Given the description of an element on the screen output the (x, y) to click on. 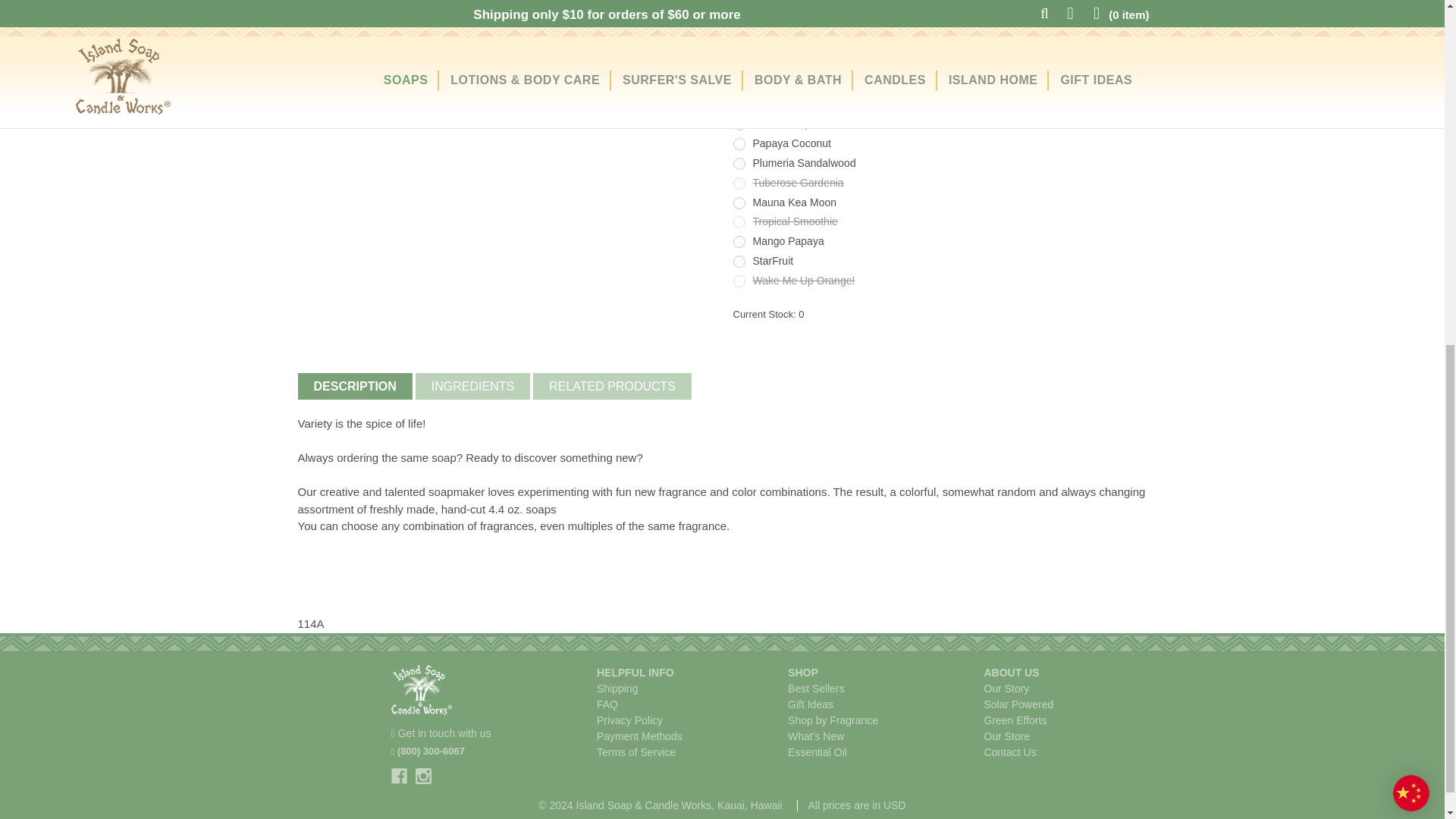
Buy 4 soaps, choose 1 free (398, 5)
Buy 4 soaps, choose 1 free (330, 5)
Open Zonos Hello (1411, 180)
